Given the description of an element on the screen output the (x, y) to click on. 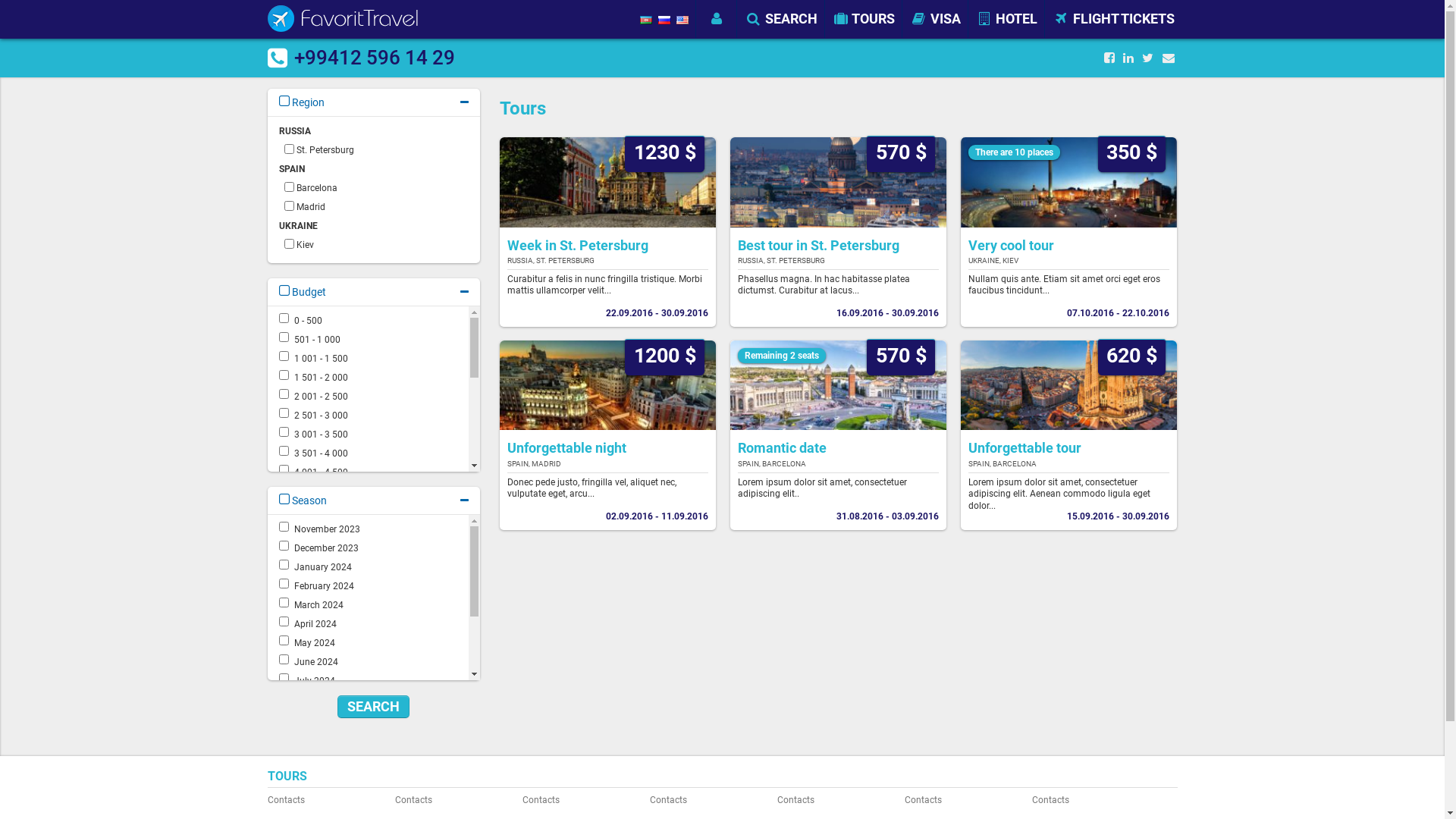
Contacts Element type: text (708, 799)
SEARCH Element type: text (780, 18)
VISA Element type: text (934, 18)
Contacts Element type: text (835, 799)
Contacts Element type: text (453, 799)
Contacts Element type: text (1090, 799)
English Element type: hover (682, 19)
Contacts Element type: text (580, 799)
Contacts Element type: text (962, 799)
SEARCH Element type: text (373, 706)
FLIGHT TICKETS Element type: text (1113, 18)
Contacts Element type: text (325, 799)
HOTEL Element type: text (1006, 18)
TOURS Element type: text (863, 18)
